Given the description of an element on the screen output the (x, y) to click on. 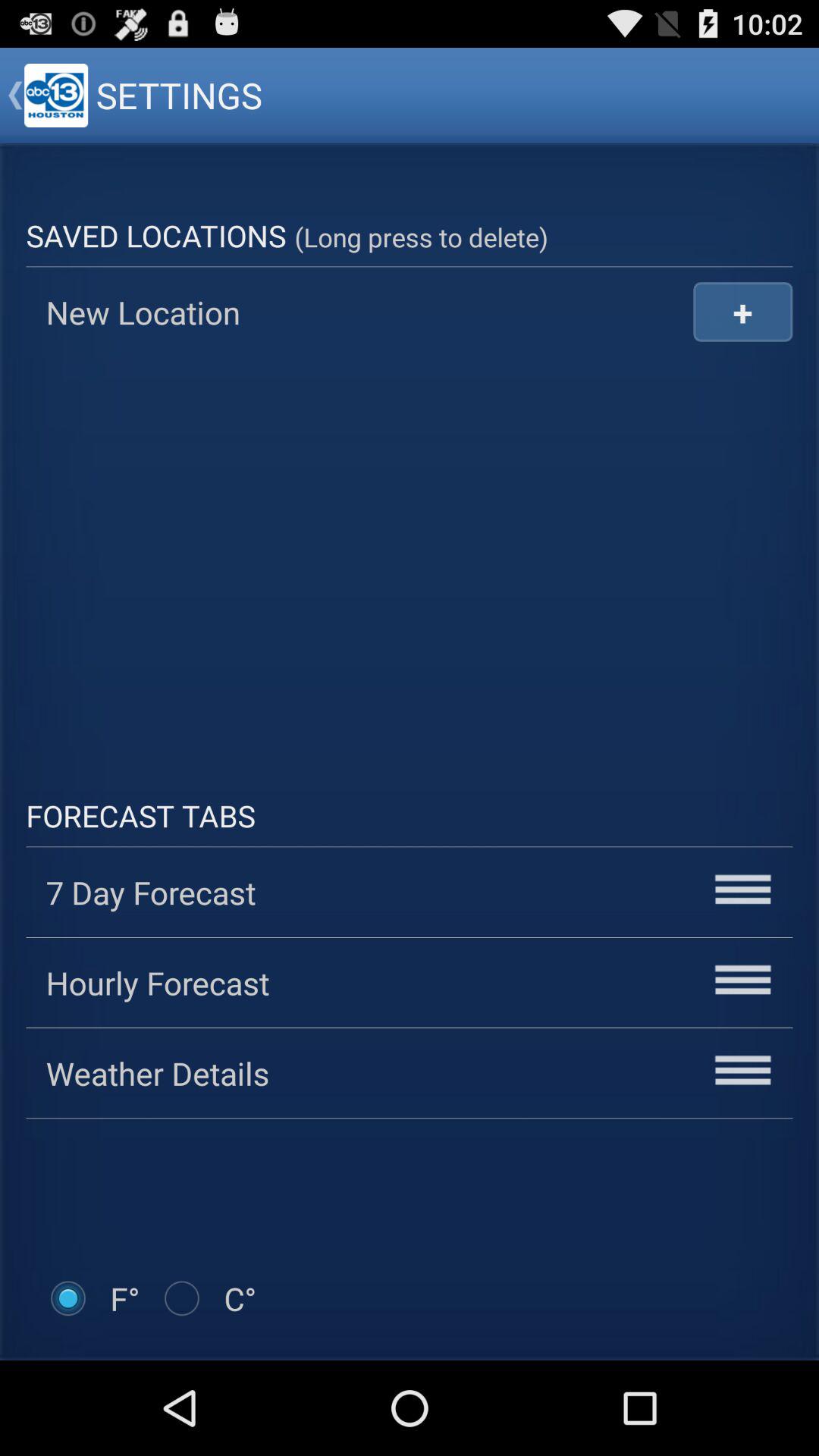
press + icon (742, 311)
